Given the description of an element on the screen output the (x, y) to click on. 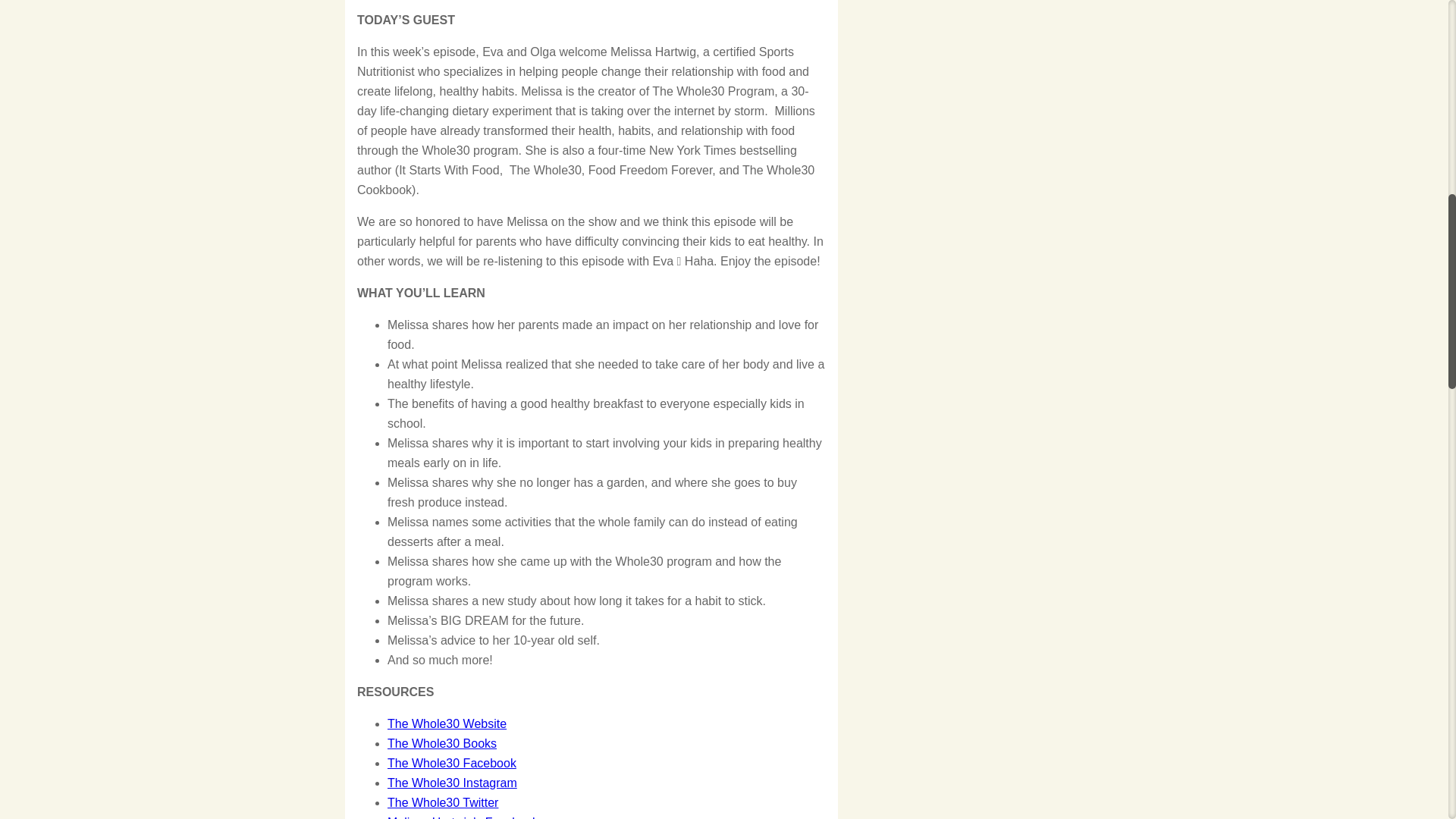
The Whole30 Books (441, 743)
The Whole30 Facebook (451, 762)
The Whole30 Instagram (451, 782)
The Whole30 Twitter (442, 802)
The Whole30 Website (446, 723)
